Given the description of an element on the screen output the (x, y) to click on. 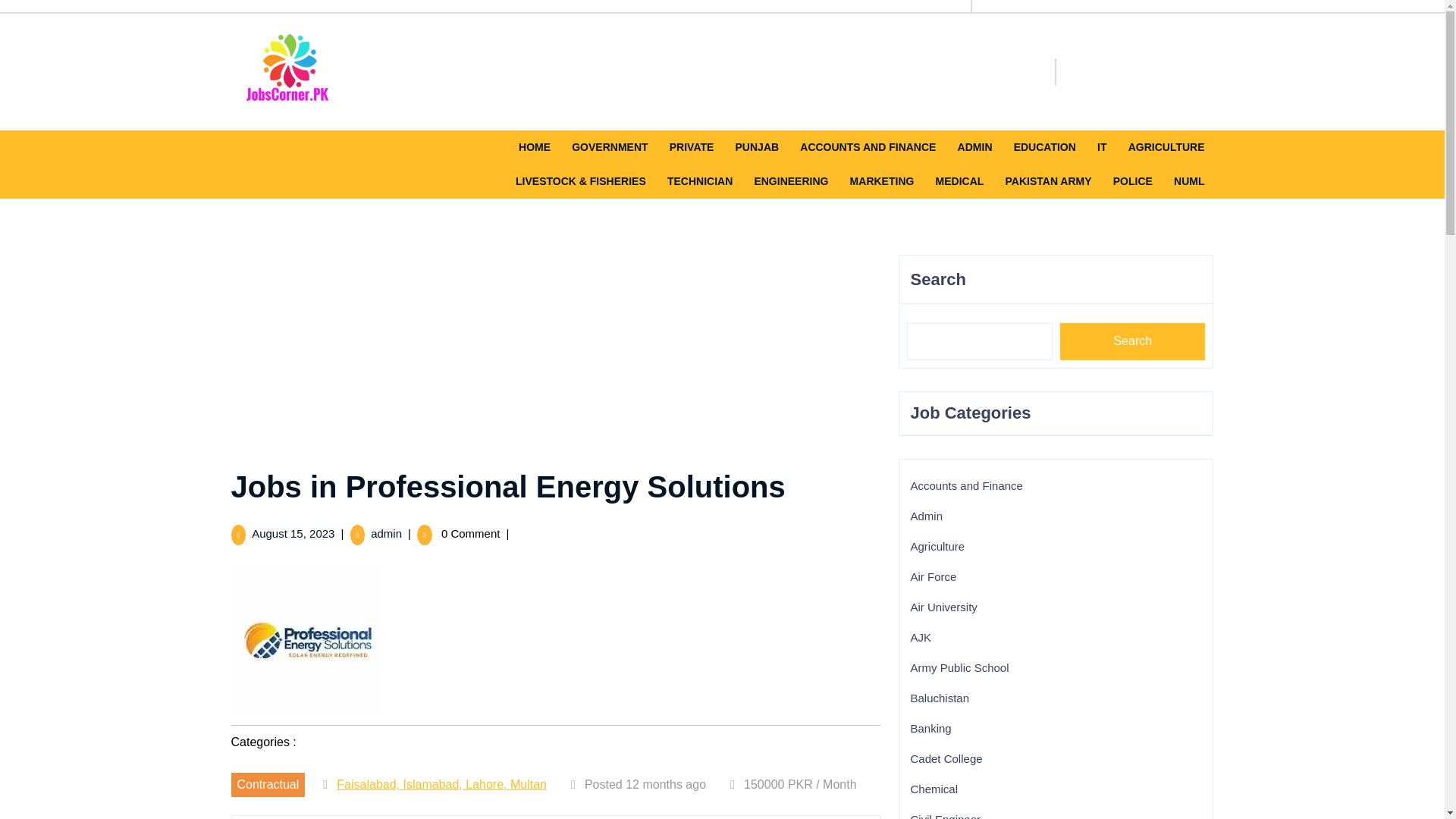
GOVERNMENT (609, 147)
HOME (534, 147)
PRIVATE (691, 147)
ADMIN (975, 147)
ACCOUNTS AND FINANCE (867, 147)
EDUCATION (1044, 147)
PUNJAB (756, 147)
